Given the description of an element on the screen output the (x, y) to click on. 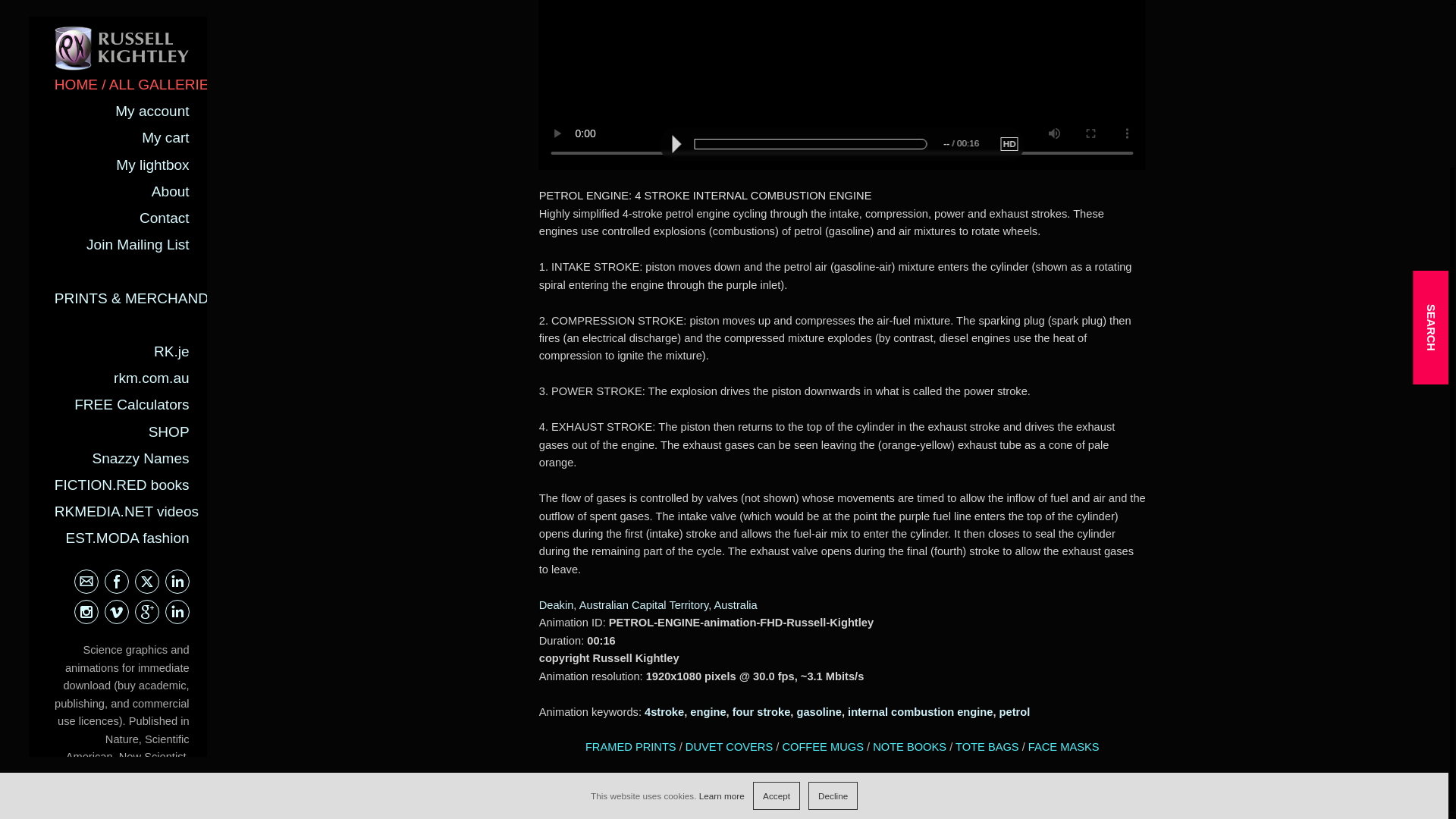
rkm.com.au (151, 174)
RK.je (171, 148)
RKMEDIA.NET videos (126, 308)
SHOP (168, 228)
FICTION.RED books (122, 281)
FREE Calculators (131, 201)
EST.MODA fashion (127, 334)
Join Mailing List (137, 41)
Contact (164, 14)
Snazzy Names (141, 254)
HD (1009, 143)
PRINT SHOP (154, 677)
